Given the description of an element on the screen output the (x, y) to click on. 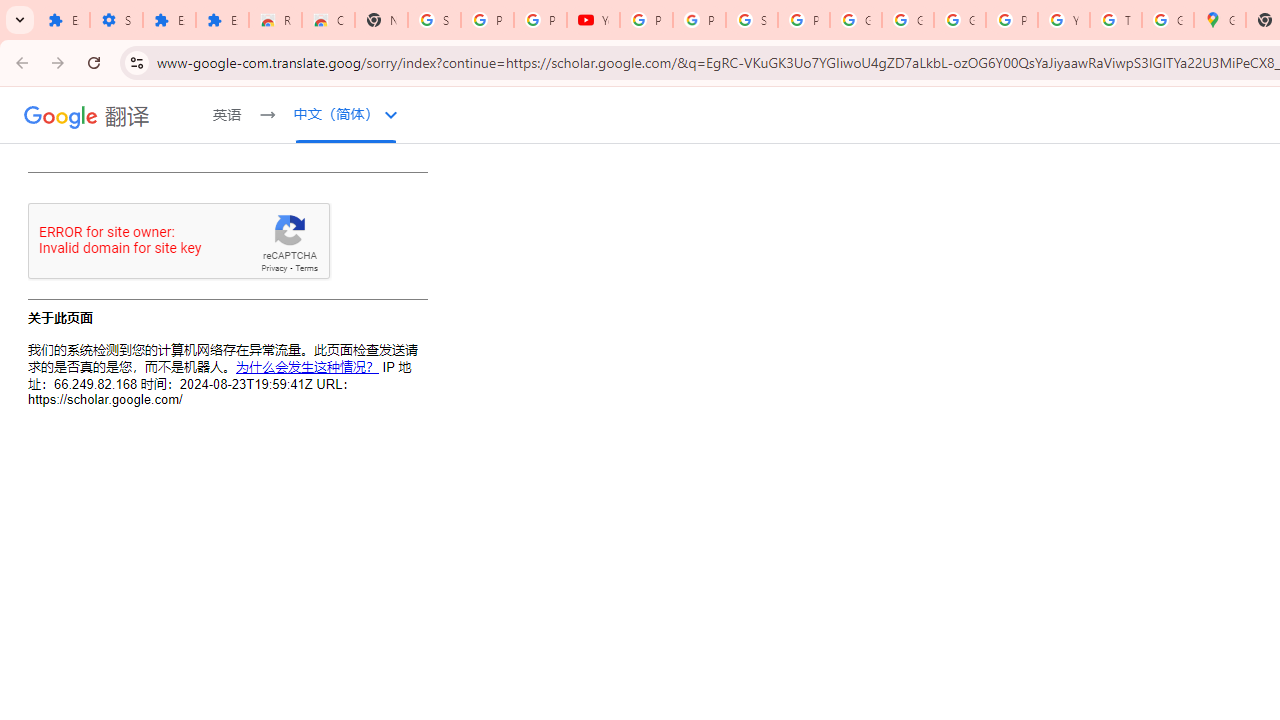
Google Account (907, 20)
Sign in - Google Accounts (751, 20)
